Given the description of an element on the screen output the (x, y) to click on. 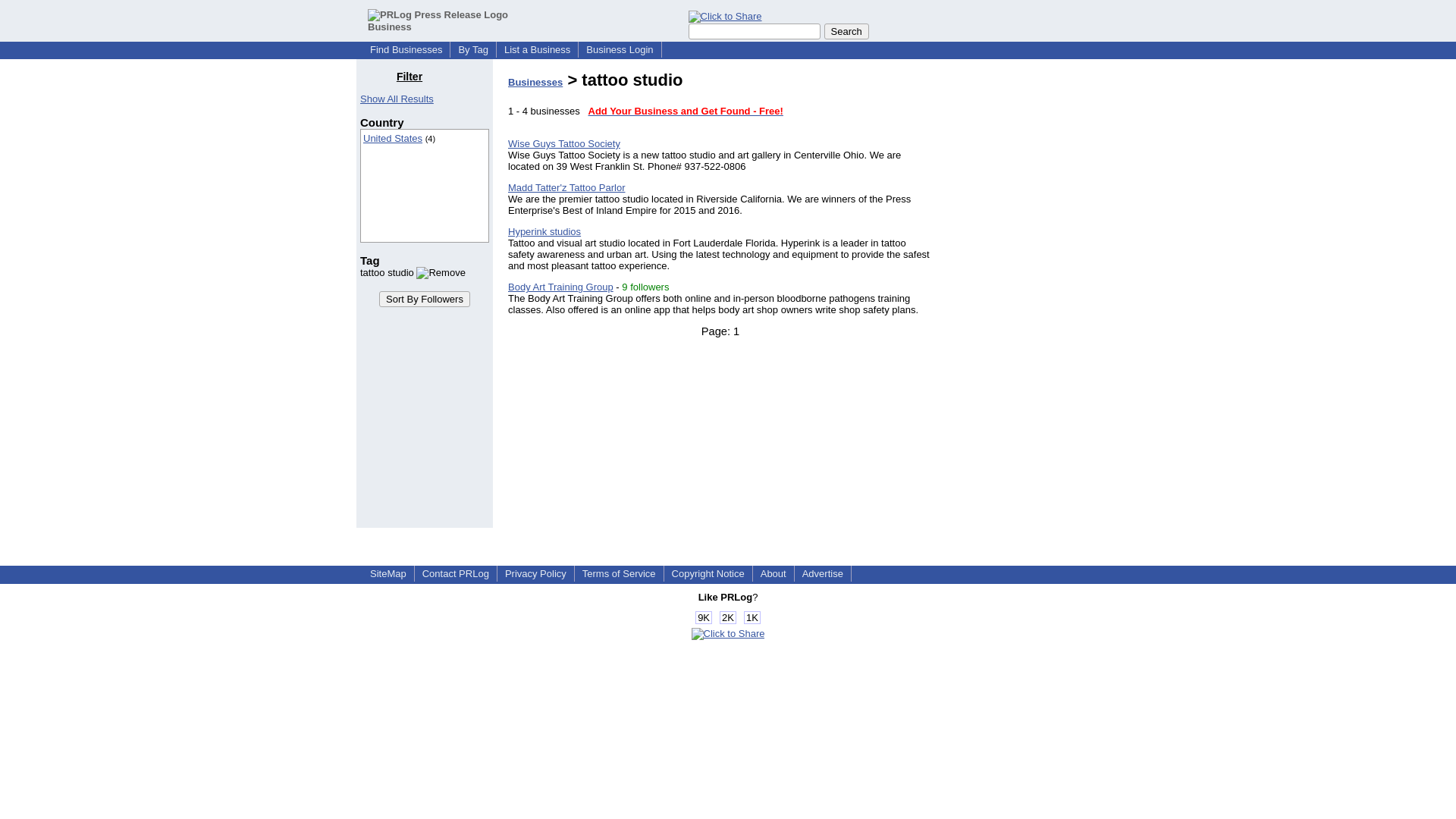
Sort By Followers (424, 299)
Terms of Service (619, 573)
Body Art Training Group (560, 286)
Privacy Policy (535, 573)
List a Business (536, 49)
Hyperink studios (544, 231)
Click to see the index with all filters cleared (396, 98)
By Tag (473, 49)
Businesses (535, 81)
SiteMap (388, 573)
tattoo studio (412, 272)
Contact PRLog (455, 573)
Business Login (619, 49)
Share this page! (728, 633)
Share this page! (724, 16)
